Given the description of an element on the screen output the (x, y) to click on. 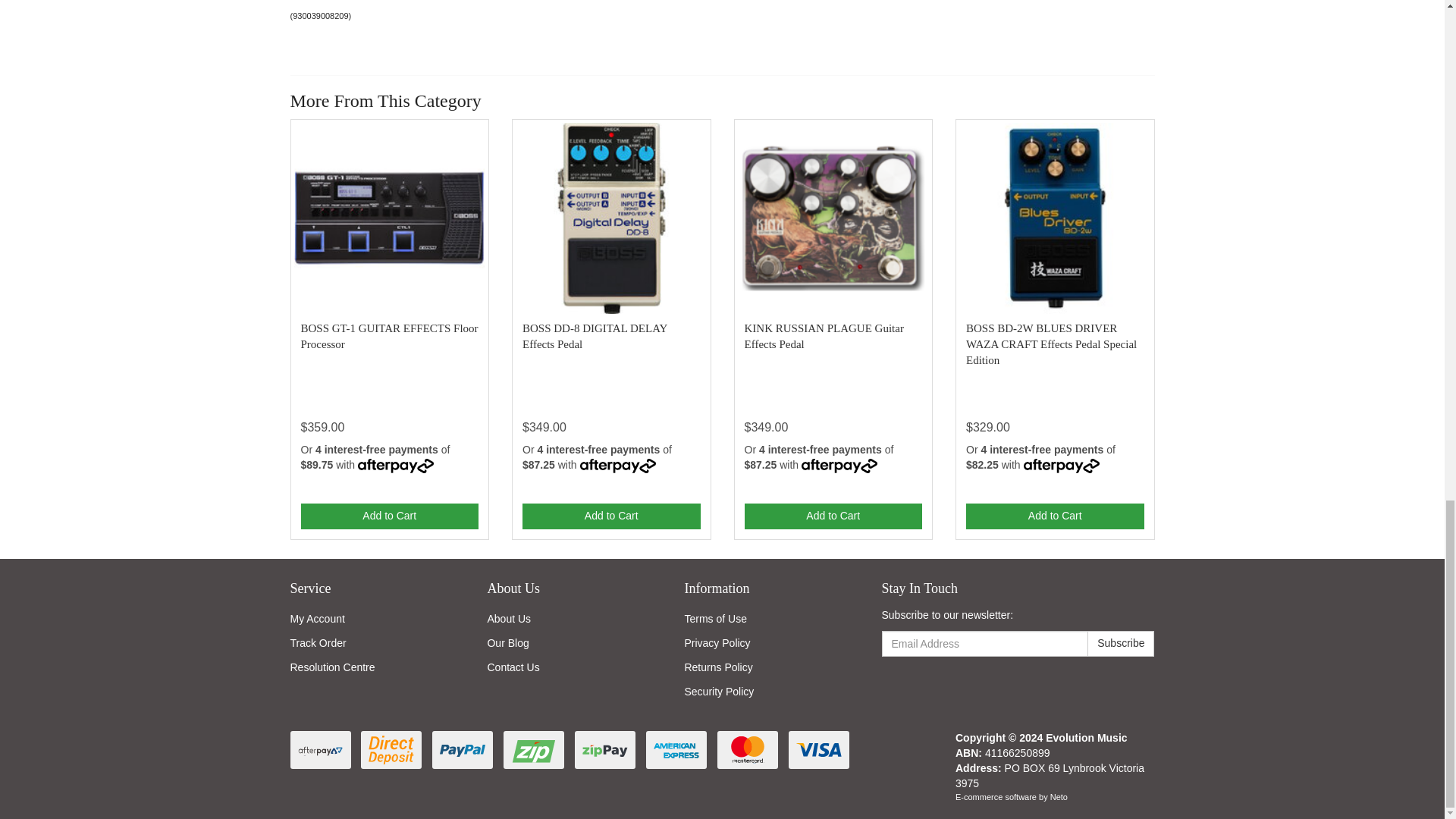
Add BOSS DD-8 DIGITAL DELAY Effects Pedal to Cart (611, 516)
Add KINK RUSSIAN PLAGUE Guitar Effects Pedal to Cart (833, 516)
Subscribe (1120, 643)
Add BOSS GT-1 GUITAR EFFECTS Floor Processor  to Cart (389, 516)
